Given the description of an element on the screen output the (x, y) to click on. 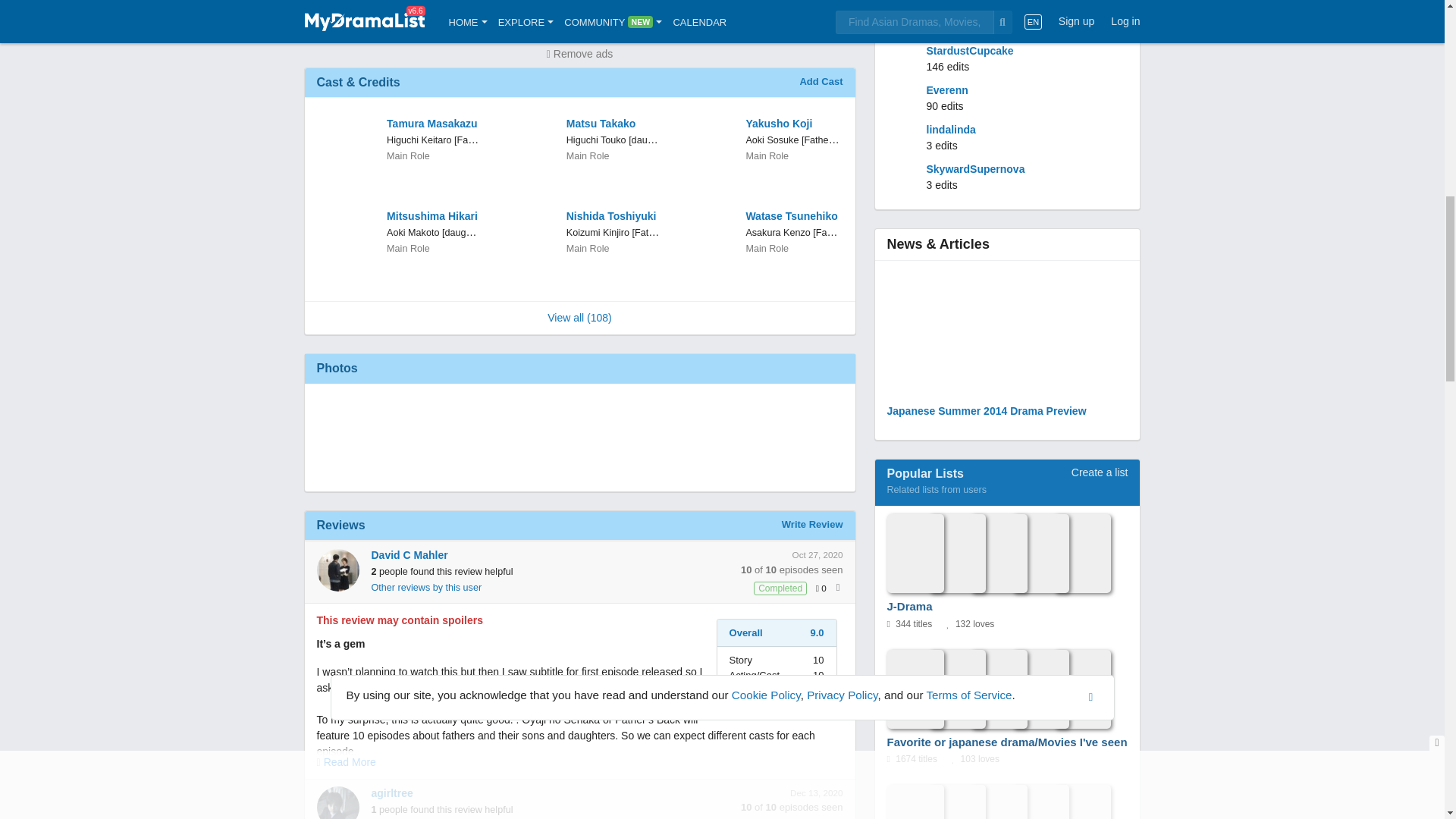
Yakusho Koji (792, 123)
Nishida Toshiyuki (613, 216)
Mitsushima Hikari (433, 216)
Tamura Masakazu (433, 123)
Matsu Takako (613, 123)
